Given the description of an element on the screen output the (x, y) to click on. 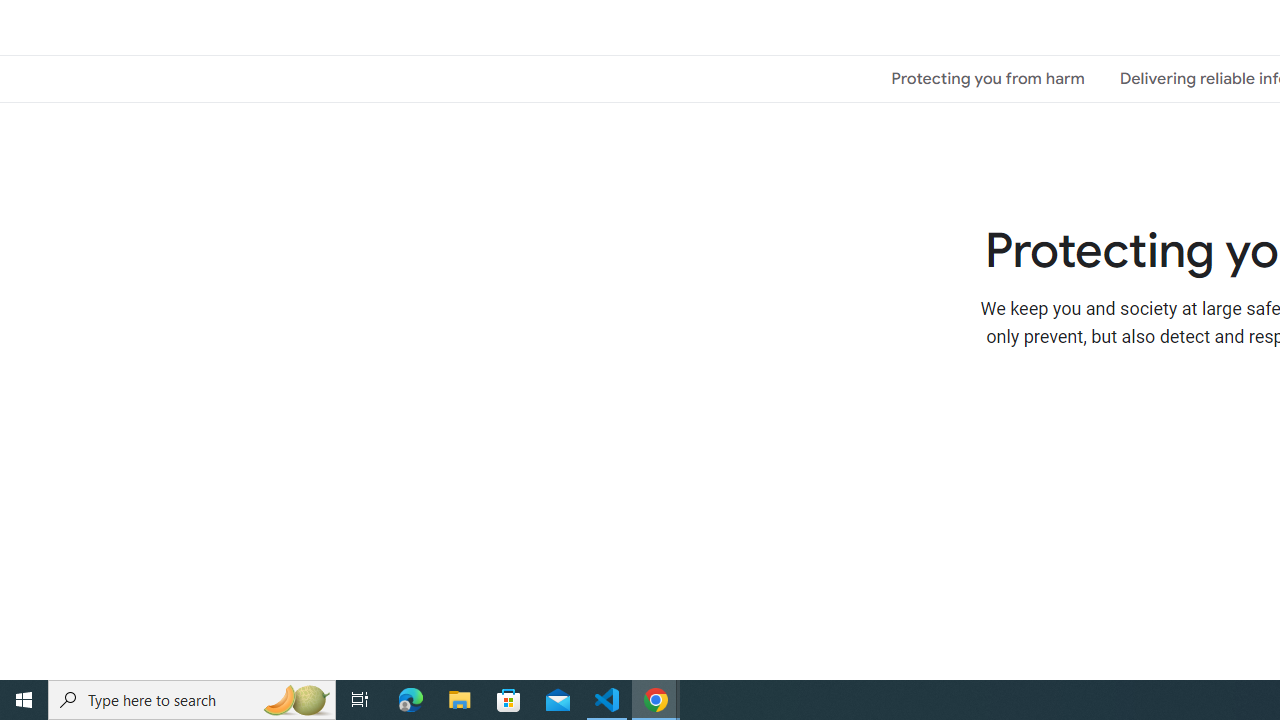
Protecting you from harm (987, 78)
